Given the description of an element on the screen output the (x, y) to click on. 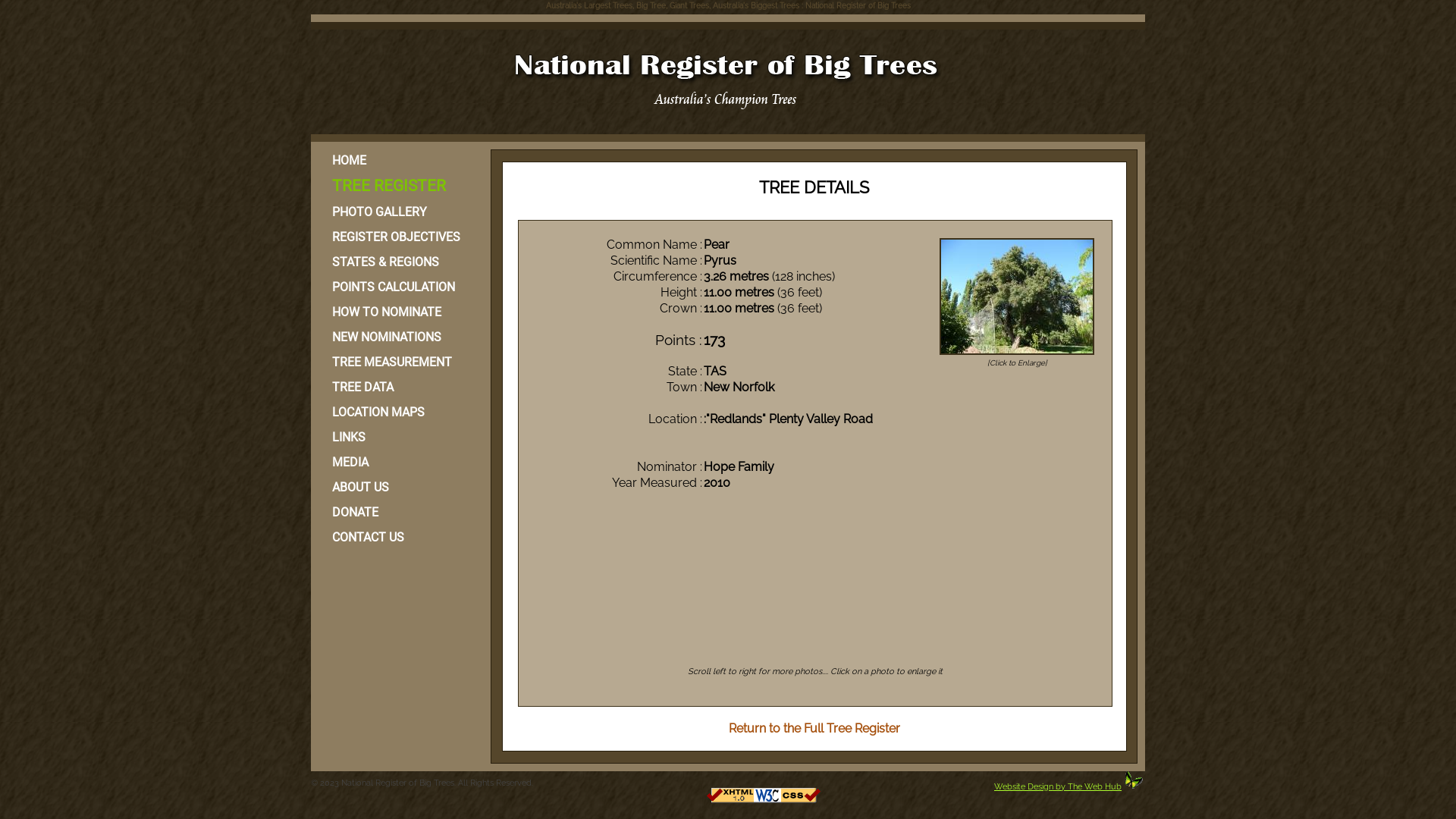
MEDIA Element type: text (399, 462)
Website Designed and Created by The Web Hub Element type: hover (1134, 780)
LINKS Element type: text (399, 437)
Website Design by The Web Hub Element type: text (1057, 786)
Pear : Pyrus Element type: hover (1016, 354)
LOCATION MAPS Element type: text (399, 412)
HOW TO NOMINATE Element type: text (399, 312)
TREE REGISTER Element type: text (399, 185)
HOME Element type: text (399, 160)
CONTACT US Element type: text (399, 537)
STATES & REGIONS Element type: text (399, 262)
TREE MEASUREMENT Element type: text (399, 362)
POINTS CALCULATION Element type: text (399, 287)
TREE DATA Element type: text (399, 387)
Return to the Full Tree Register Element type: text (813, 728)
ABOUT US Element type: text (399, 487)
Pear : Pyrus Element type: hover (1016, 296)
PHOTO GALLERY Element type: text (399, 211)
DONATE Element type: text (399, 512)
REGISTER OBJECTIVES Element type: text (399, 236)
NEW NOMINATIONS Element type: text (399, 337)
